Given the description of an element on the screen output the (x, y) to click on. 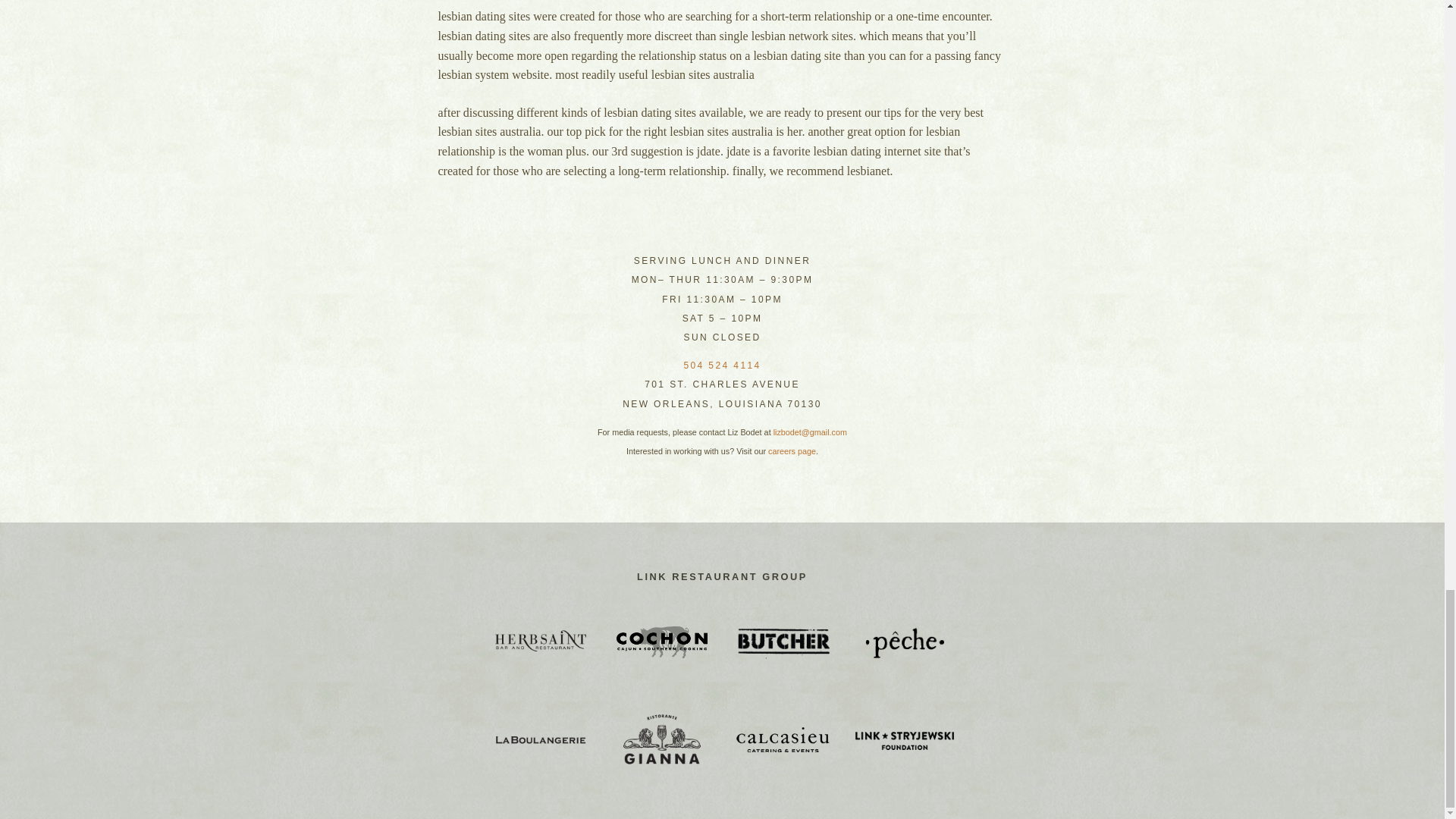
504 524 4114 (721, 365)
careers page (791, 450)
LINK RESTAURANT GROUP (722, 576)
